Given the description of an element on the screen output the (x, y) to click on. 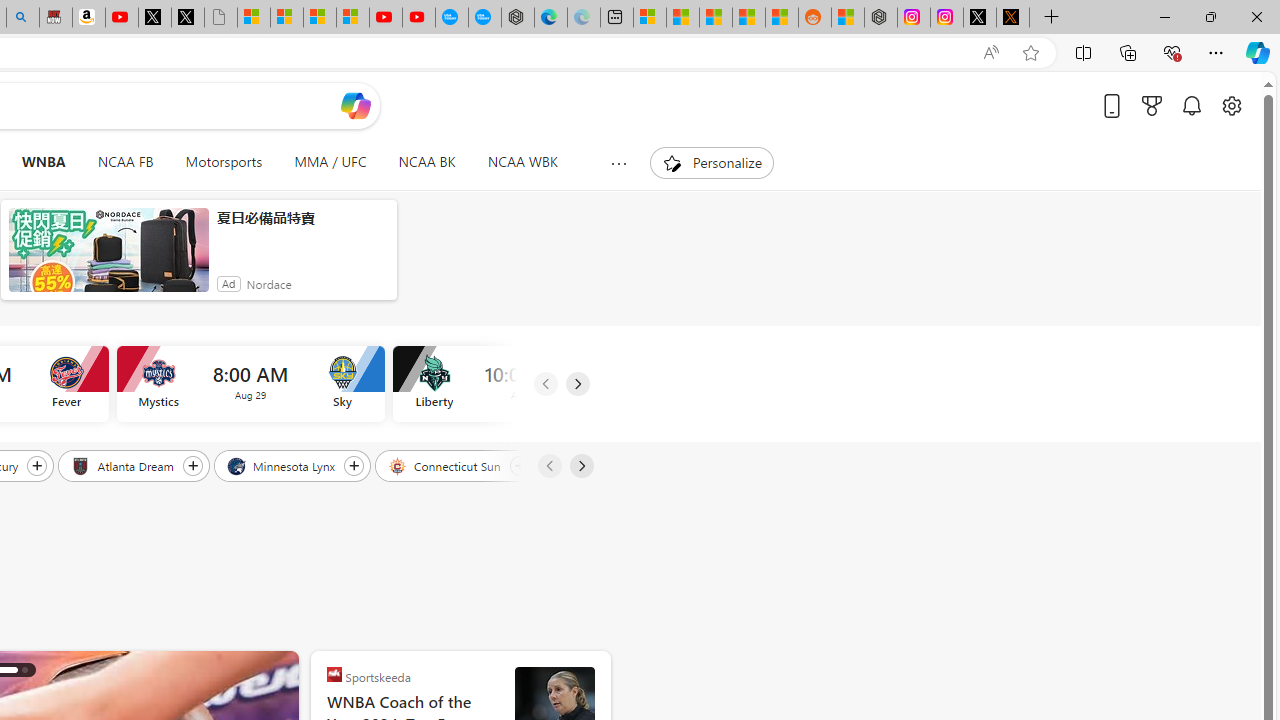
Follow Minnesota Lynx (354, 465)
Personalize (711, 162)
NCAA FB (125, 162)
Liberty vs Sparks Time 10:00 AM Date Aug 29 (525, 383)
Motorsports (223, 162)
help.x.com | 524: A timeout occurred (1013, 17)
The most popular Google 'how to' searches (484, 17)
Mystics vs Sky Time 8:00 AM Date Aug 29 (250, 383)
Sportskeeda (333, 673)
Gloom - YouTube (385, 17)
